Given the description of an element on the screen output the (x, y) to click on. 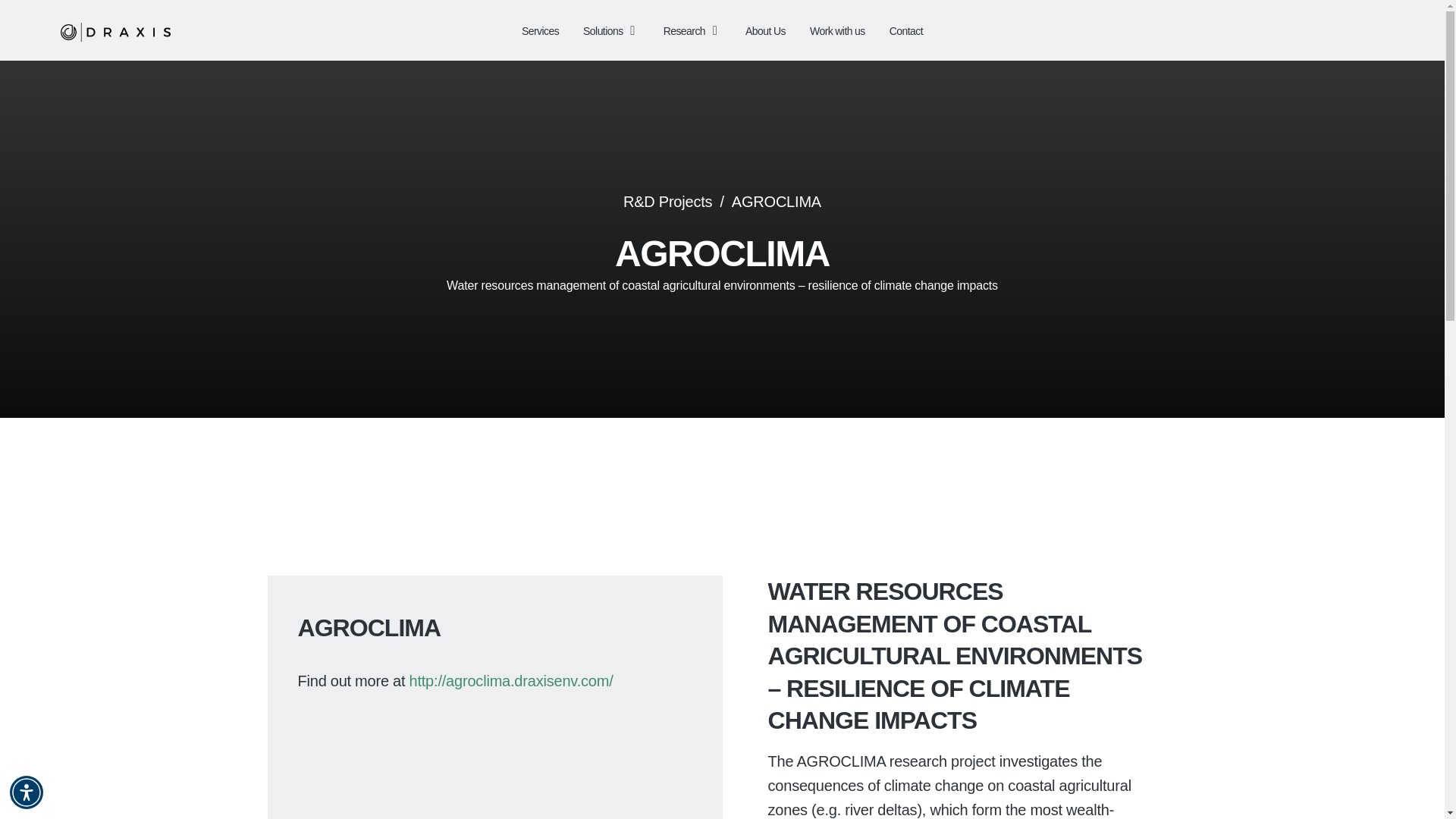
Work with us (836, 30)
Research (691, 30)
Services (540, 30)
Solutions (611, 30)
Accessibility Menu (26, 792)
Contact (906, 30)
About Us (765, 30)
